Given the description of an element on the screen output the (x, y) to click on. 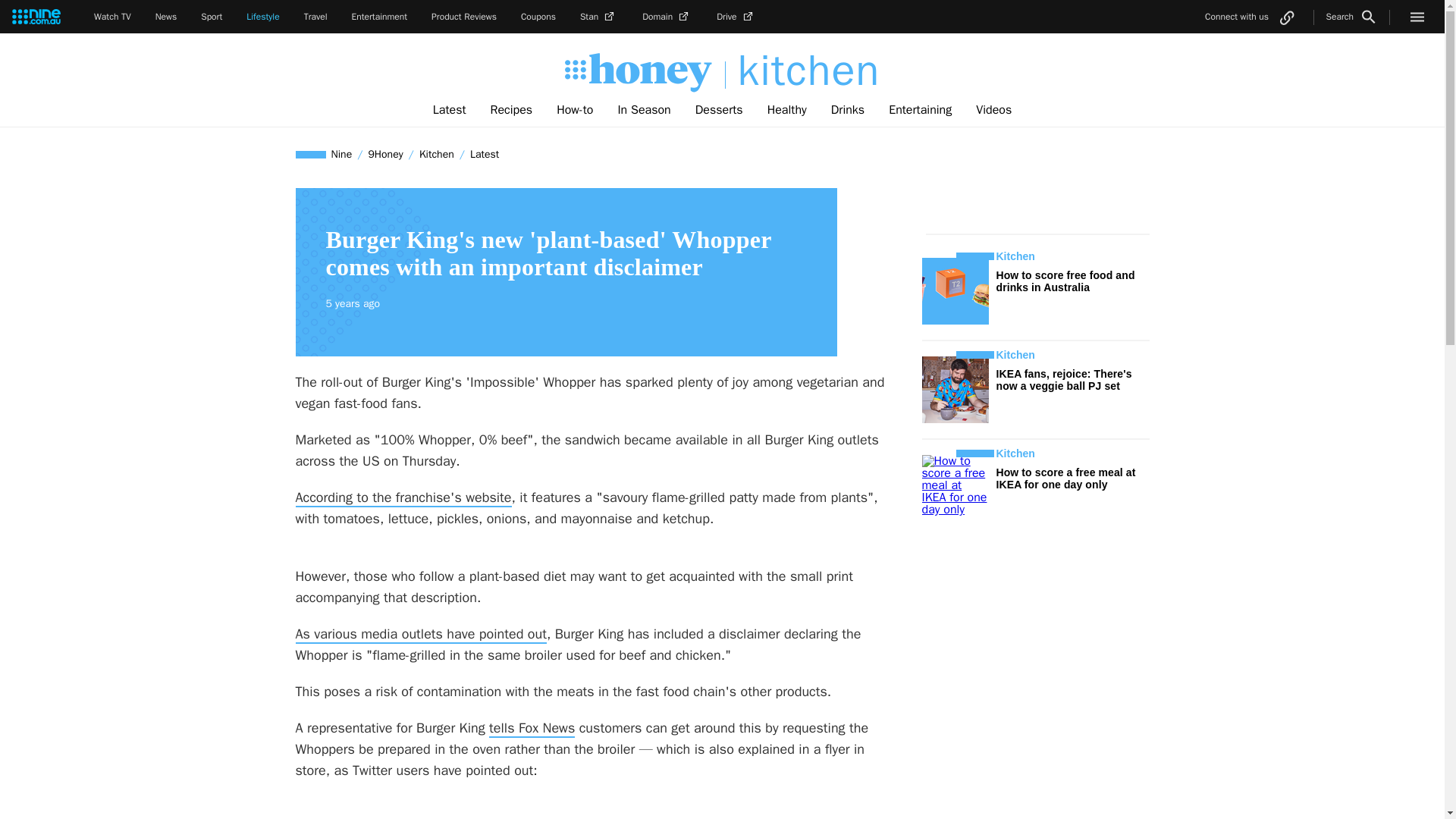
Healthy (786, 109)
As various media outlets have pointed out (421, 634)
Recipes (511, 109)
According to the franchise's website (403, 497)
In Season (643, 109)
Lifestyle (262, 16)
kitchen (802, 71)
Domain (667, 16)
9Honey (384, 154)
According to the franchise's website (403, 497)
